Given the description of an element on the screen output the (x, y) to click on. 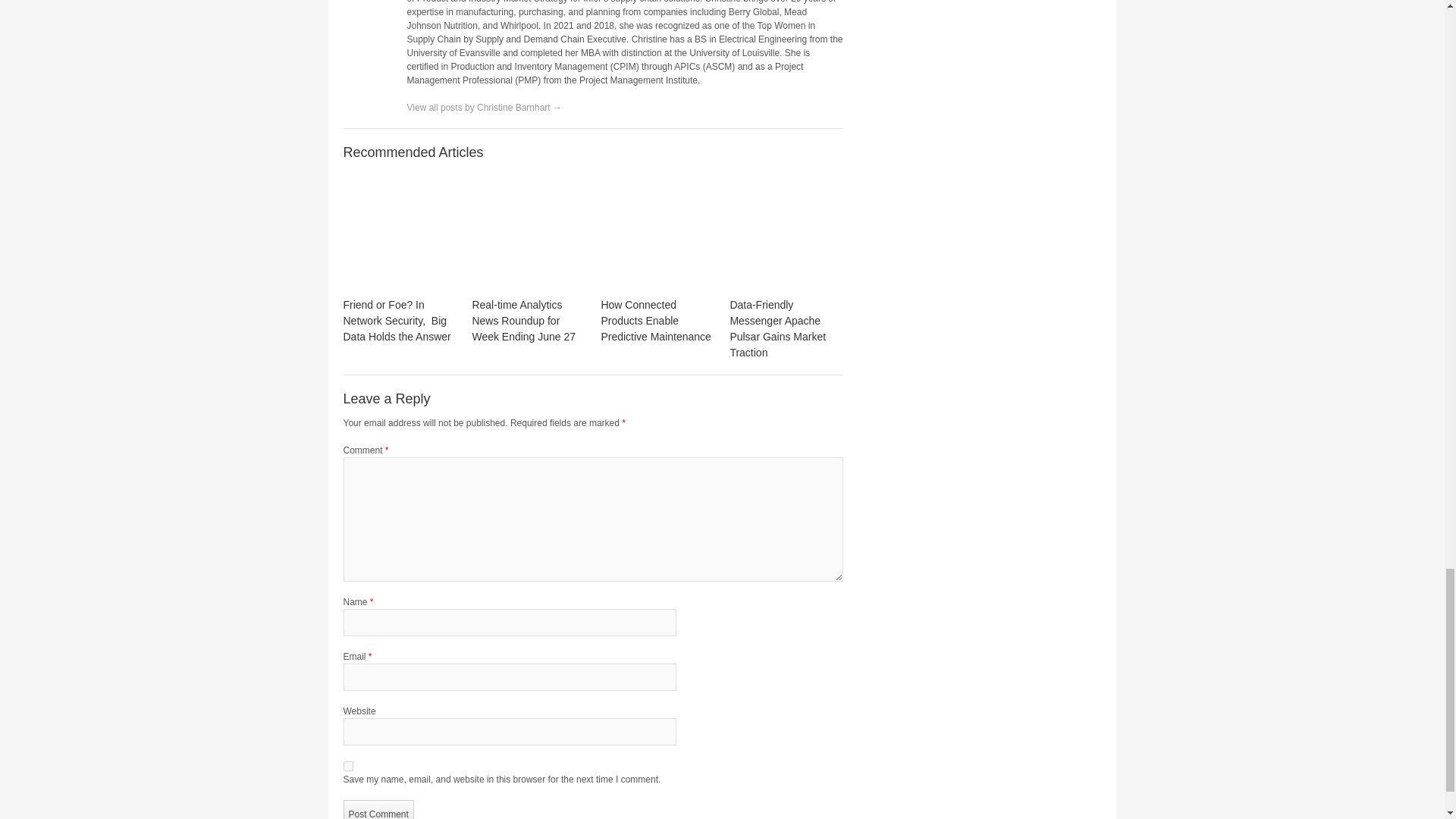
Real-time Analytics News Roundup for Week Ending June 27 (523, 320)
yes (347, 766)
How Connected Products Enable Predictive Maintenance (654, 320)
Real-time Analytics News Roundup for Week Ending June 27 (528, 233)
How Connected Products Enable Predictive Maintenance (656, 233)
